Given the description of an element on the screen output the (x, y) to click on. 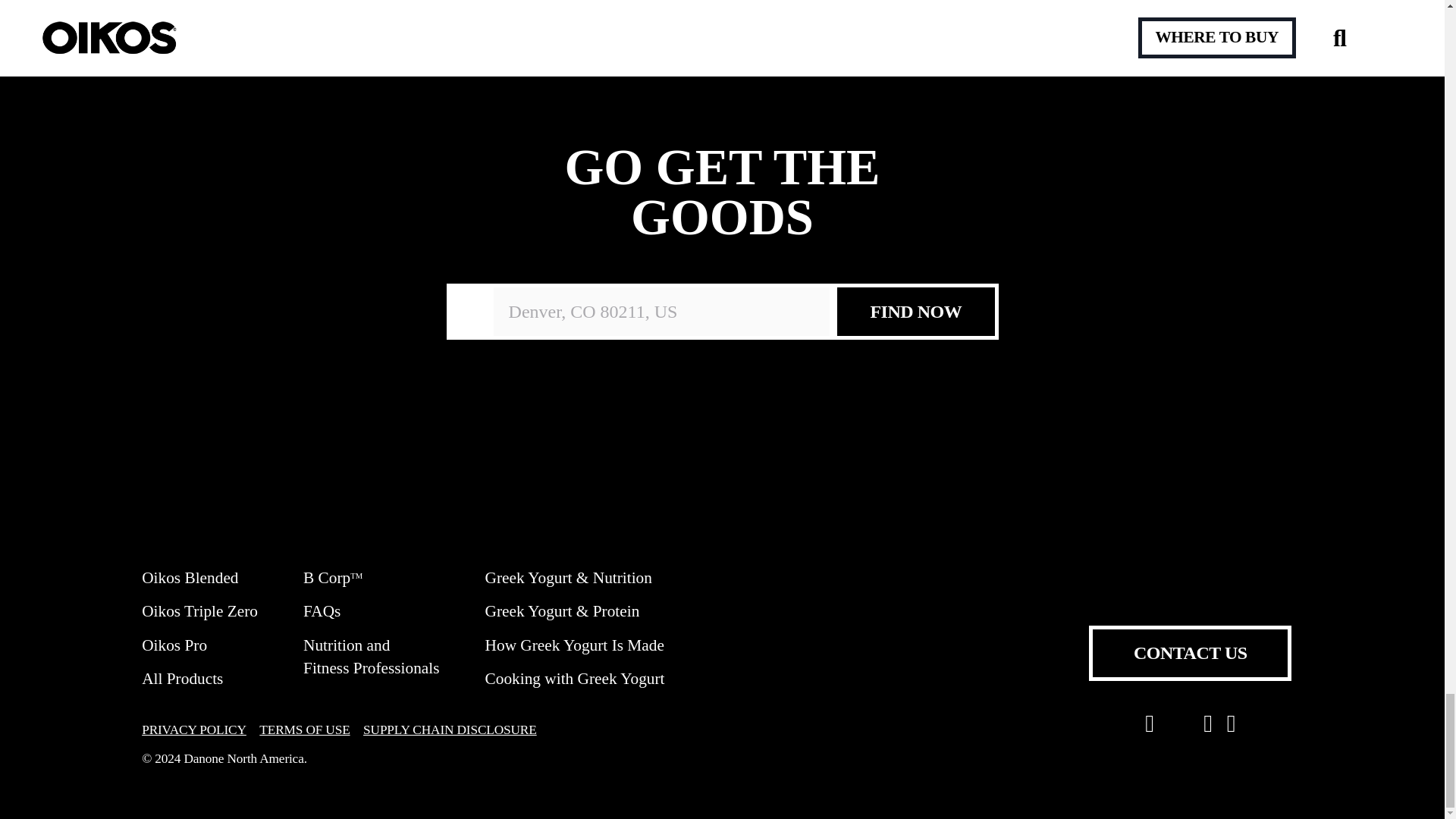
FIND NOW (914, 311)
